Given the description of an element on the screen output the (x, y) to click on. 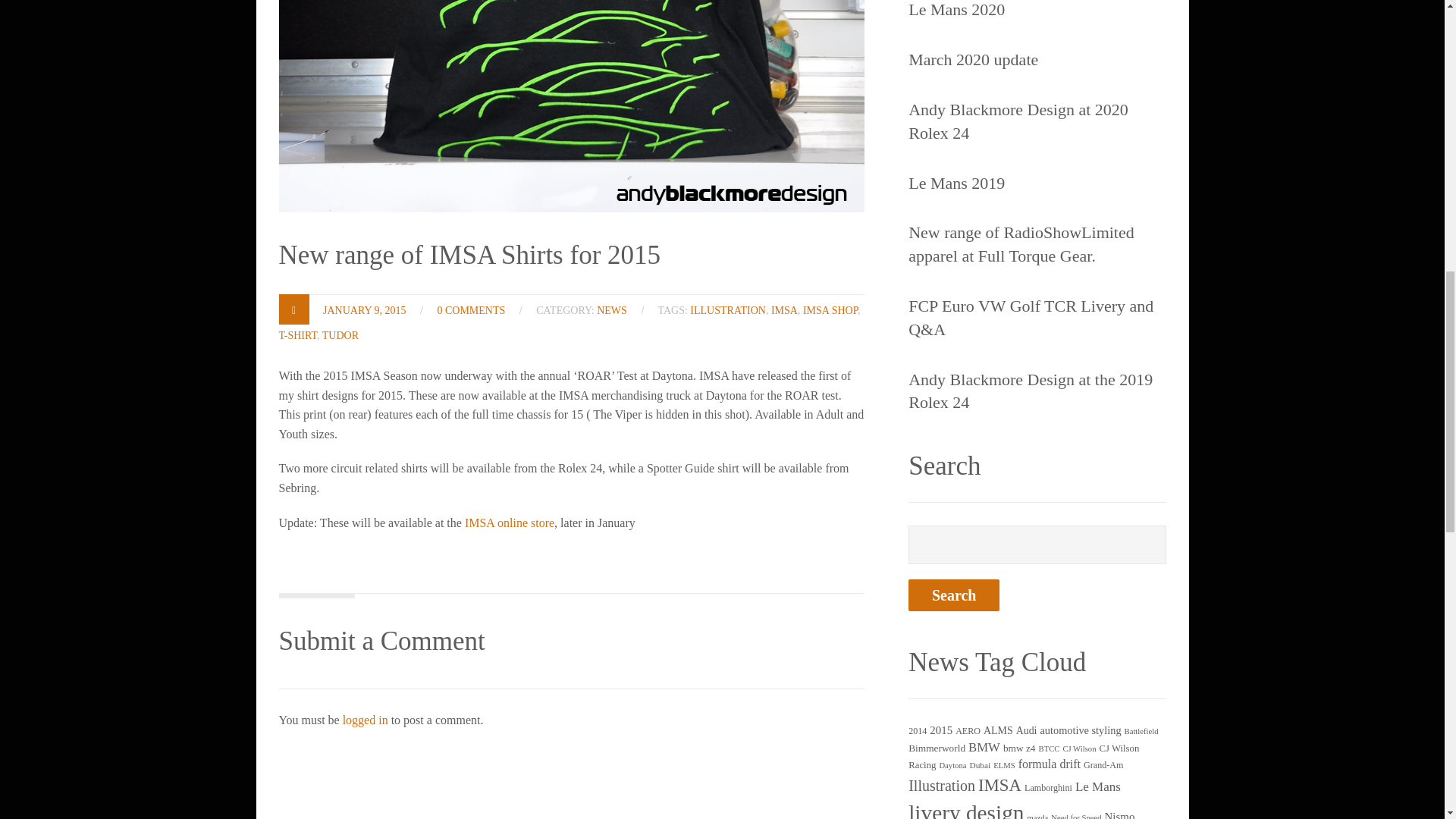
JANUARY 9, 2015 (364, 310)
IMSA online store (509, 522)
TUDOR (339, 335)
Bimmerworld (936, 747)
New range of RadioShowLimited apparel at Full Torque Gear. (1037, 244)
Le Mans 2019 (956, 183)
Le Mans 2020 (956, 11)
Search (953, 594)
Andy Blackmore Design at 2020 Rolex 24 (1037, 121)
BMW (984, 747)
Andy Blackmore Design at the 2019 Rolex 24 (1037, 391)
Battlefield (1141, 731)
automotive styling (1080, 729)
2014 (917, 730)
AERO (967, 730)
